Given the description of an element on the screen output the (x, y) to click on. 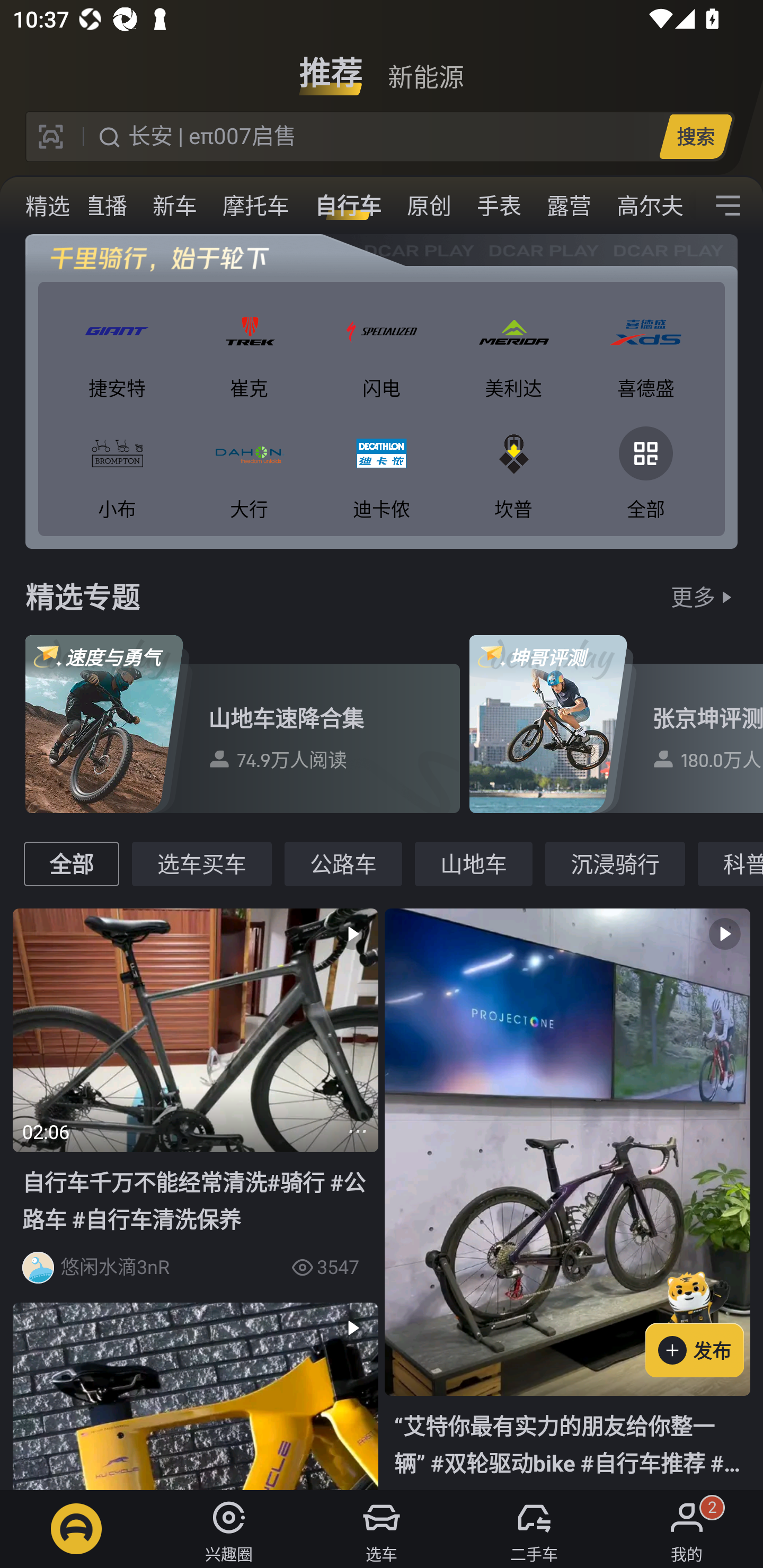
推荐 (330, 65)
新能源 (425, 65)
搜索 (695, 136)
资讯 (23, 205)
直播 (93, 205)
新车 (174, 205)
摩托车 (255, 205)
自行车 (348, 205)
原创 (428, 205)
手表 (498, 205)
露营 (569, 205)
高尔夫 (649, 205)
 (727, 205)
捷安特 (117, 348)
崔克 (249, 348)
闪电 (381, 348)
美利达 (513, 348)
喜德盛 (645, 348)
小布 (117, 469)
大行 (249, 469)
迪卡侬 (381, 469)
坎普 (513, 469)
全部 (645, 469)
更多  (703, 596)
速度与勇气 山地车速降合集  74.9万人阅读 (242, 724)
坤哥评测 张京坤评测自行车  180.0万人阅读 (616, 724)
全部 (71, 863)
选车买车 (201, 863)
公路车 (343, 863)
山地车 (473, 863)
沉浸骑行 (615, 863)
  “艾特你最有实力的朋友给你整一辆” #双轮驱动bike #自行车推荐 #公路车 #山地车 (567, 1198)
 (357, 1132)
发布 (704, 1320)
 (195, 1396)
 兴趣圈 (228, 1528)
 选车 (381, 1528)
 二手车 (533, 1528)
 我的 (686, 1528)
